Given the description of an element on the screen output the (x, y) to click on. 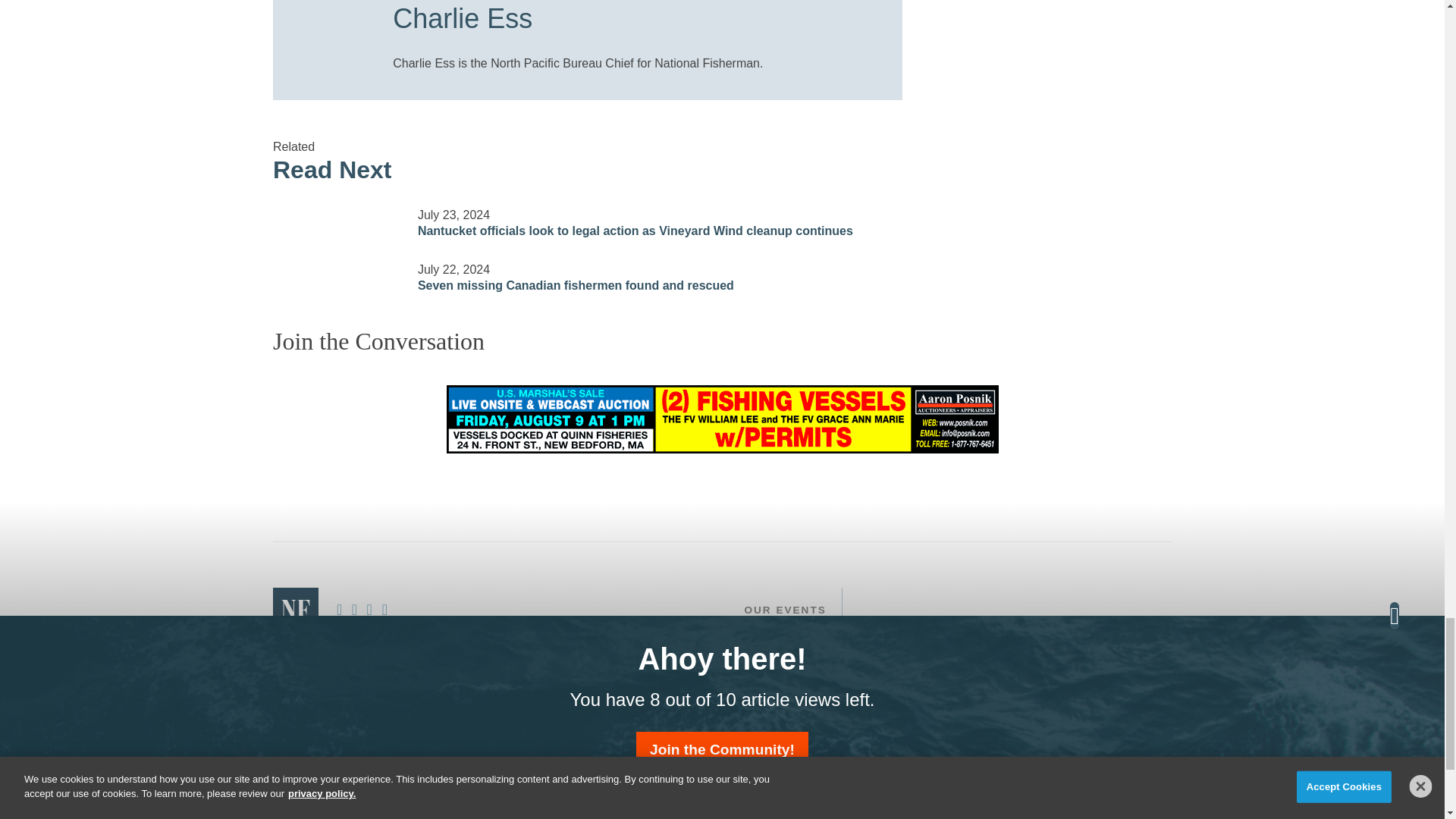
Charlie Ess (631, 21)
Seven missing Canadian fishermen found and rescued (335, 267)
Charlie Ess (325, 16)
